Given the description of an element on the screen output the (x, y) to click on. 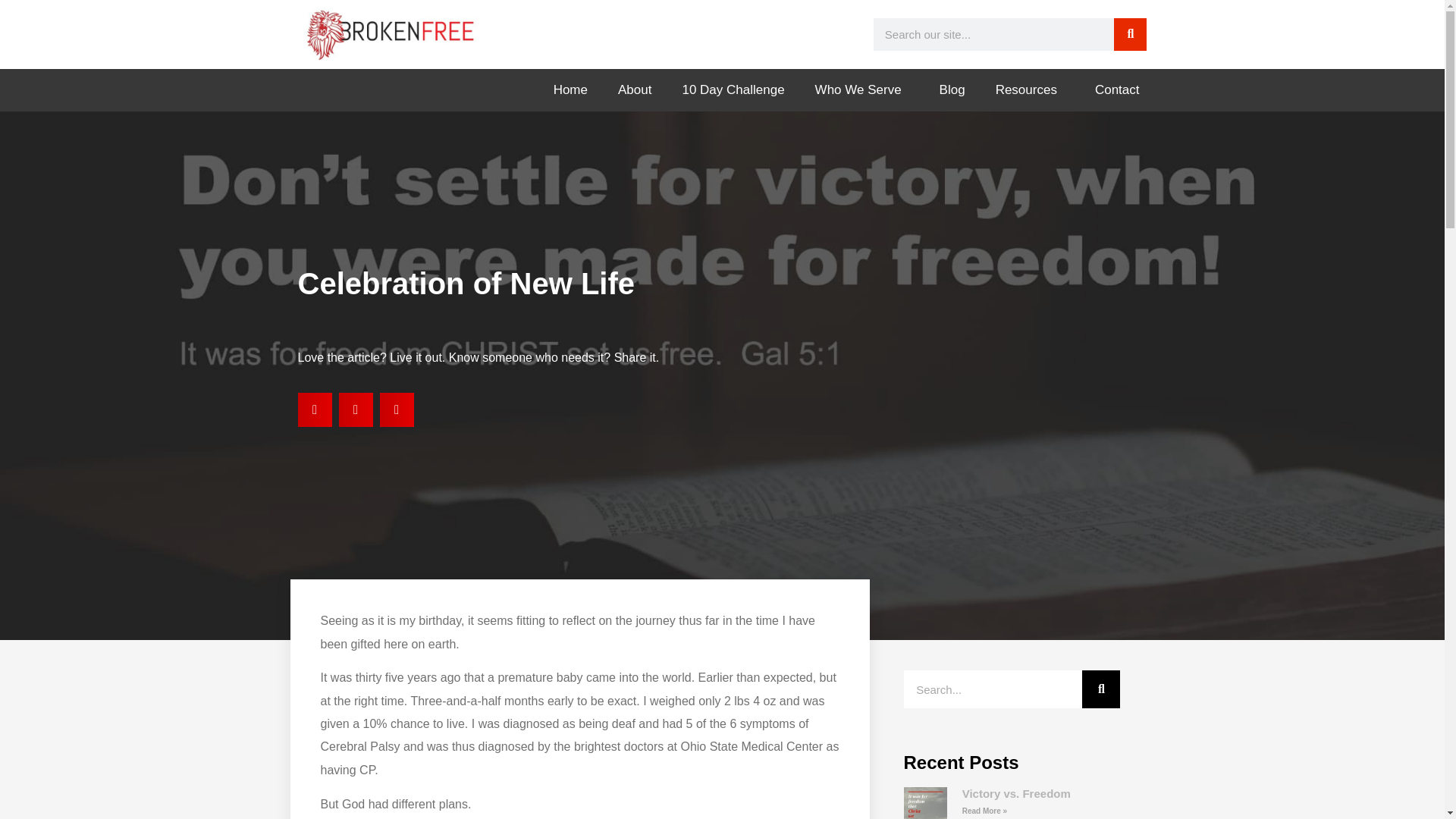
Blog (951, 89)
Resources (1029, 89)
10 Day Challenge (732, 89)
About (634, 89)
Contact (1117, 89)
Home (570, 89)
Who We Serve (861, 89)
